Given the description of an element on the screen output the (x, y) to click on. 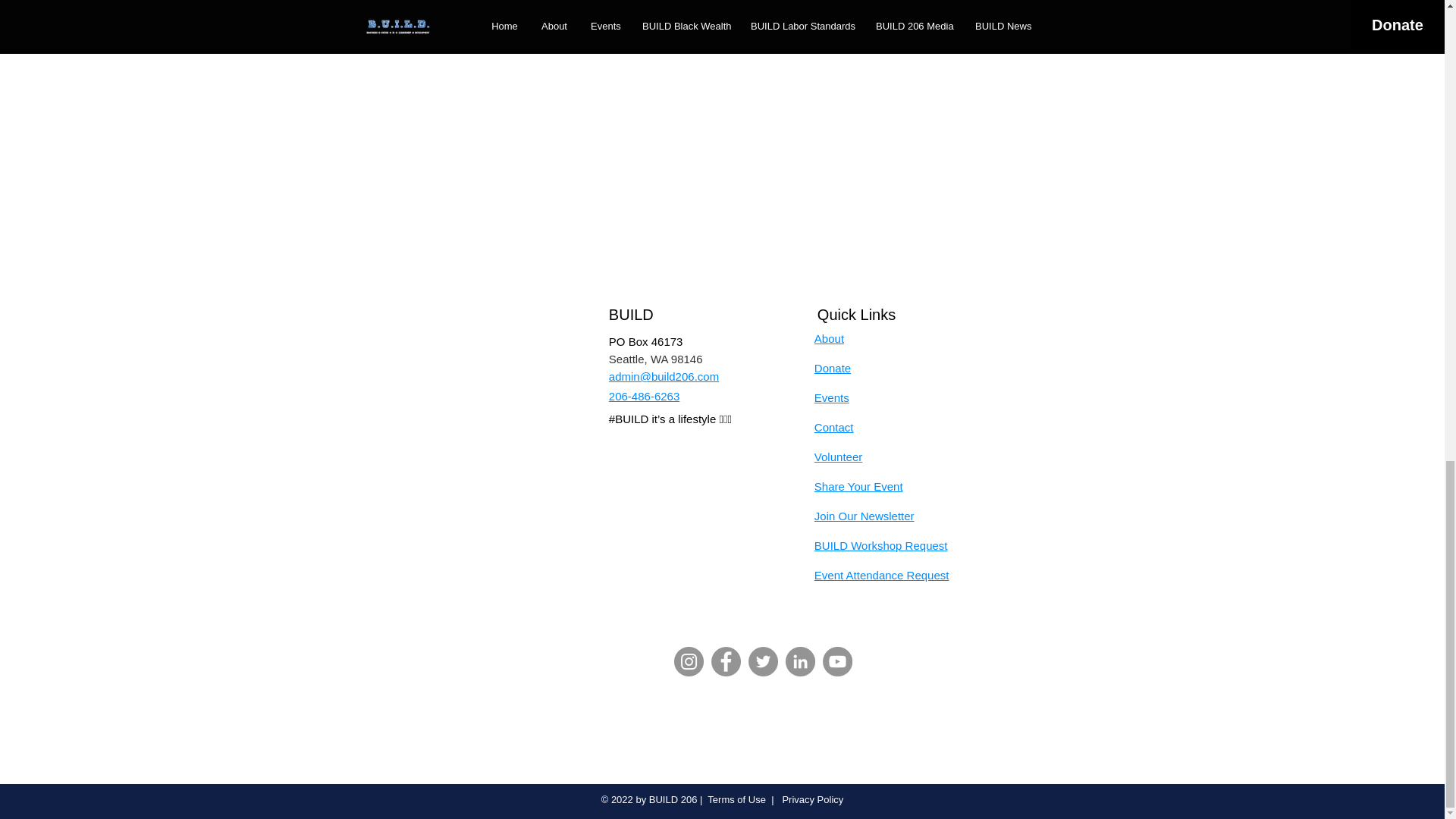
Terms of Use (736, 799)
Events (830, 397)
About (828, 338)
 Privacy Policy (811, 799)
Donate (831, 367)
Contact (833, 427)
BUILD Workshop Reques (878, 545)
Event Attendance Request (881, 574)
Volunteer (837, 456)
Join Our Newsletter (863, 515)
206-486-6263 (643, 395)
Share Your Event (857, 486)
